Given the description of an element on the screen output the (x, y) to click on. 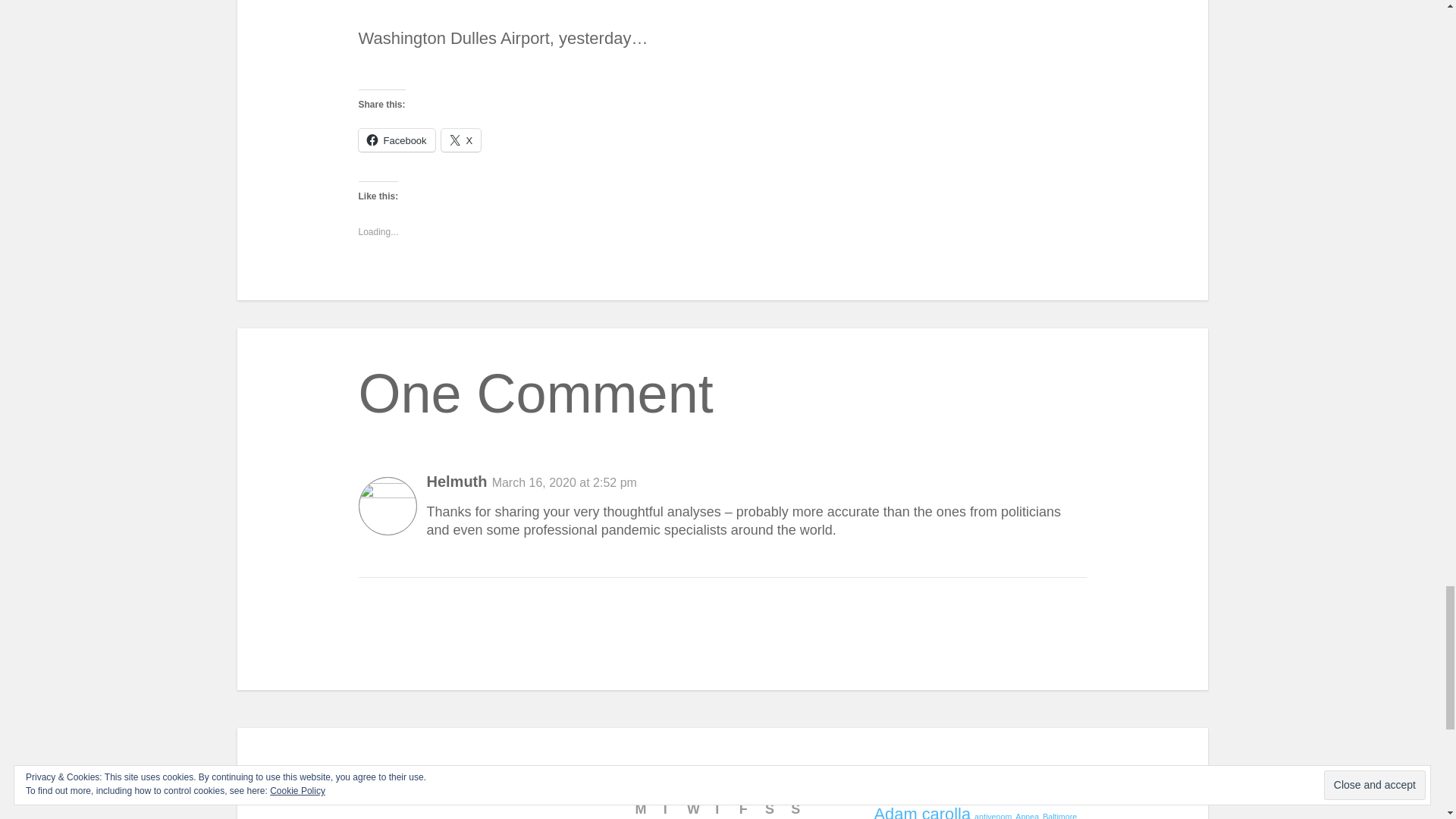
Wednesday (695, 805)
Thursday (722, 805)
Search (516, 788)
Friday (748, 805)
Facebook (395, 139)
Sunday (799, 805)
Monday (643, 805)
Baltimore (1059, 815)
Click to share on X (461, 139)
Adam carolla (922, 811)
